Given the description of an element on the screen output the (x, y) to click on. 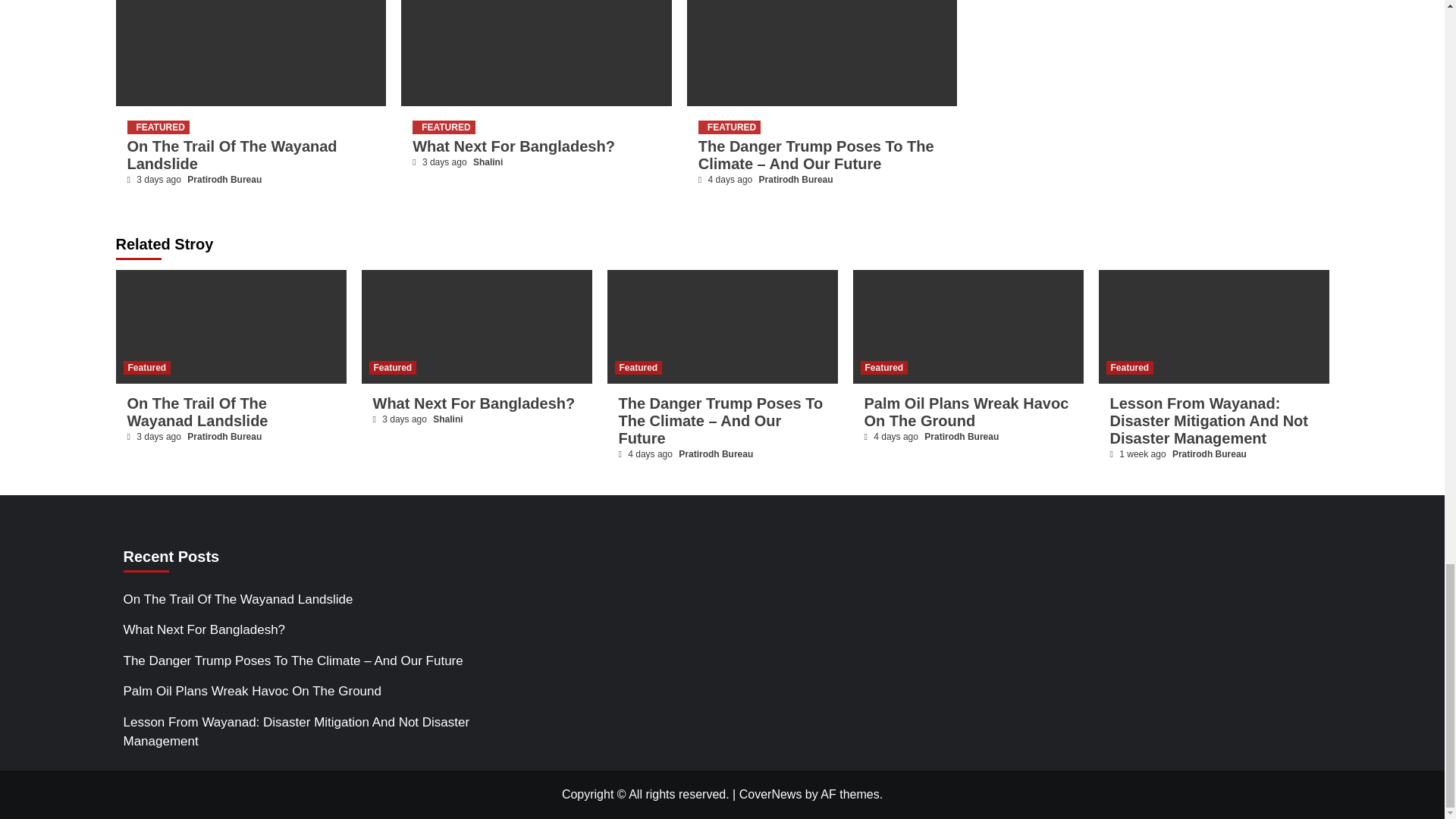
Pratirodh Bureau (224, 179)
On The Trail Of The Wayanad Landslide (232, 154)
Shalini (487, 162)
Pratirodh Bureau (795, 179)
What Next For Bangladesh? (513, 146)
FEATURED (158, 127)
FEATURED (729, 127)
FEATURED (443, 127)
